Given the description of an element on the screen output the (x, y) to click on. 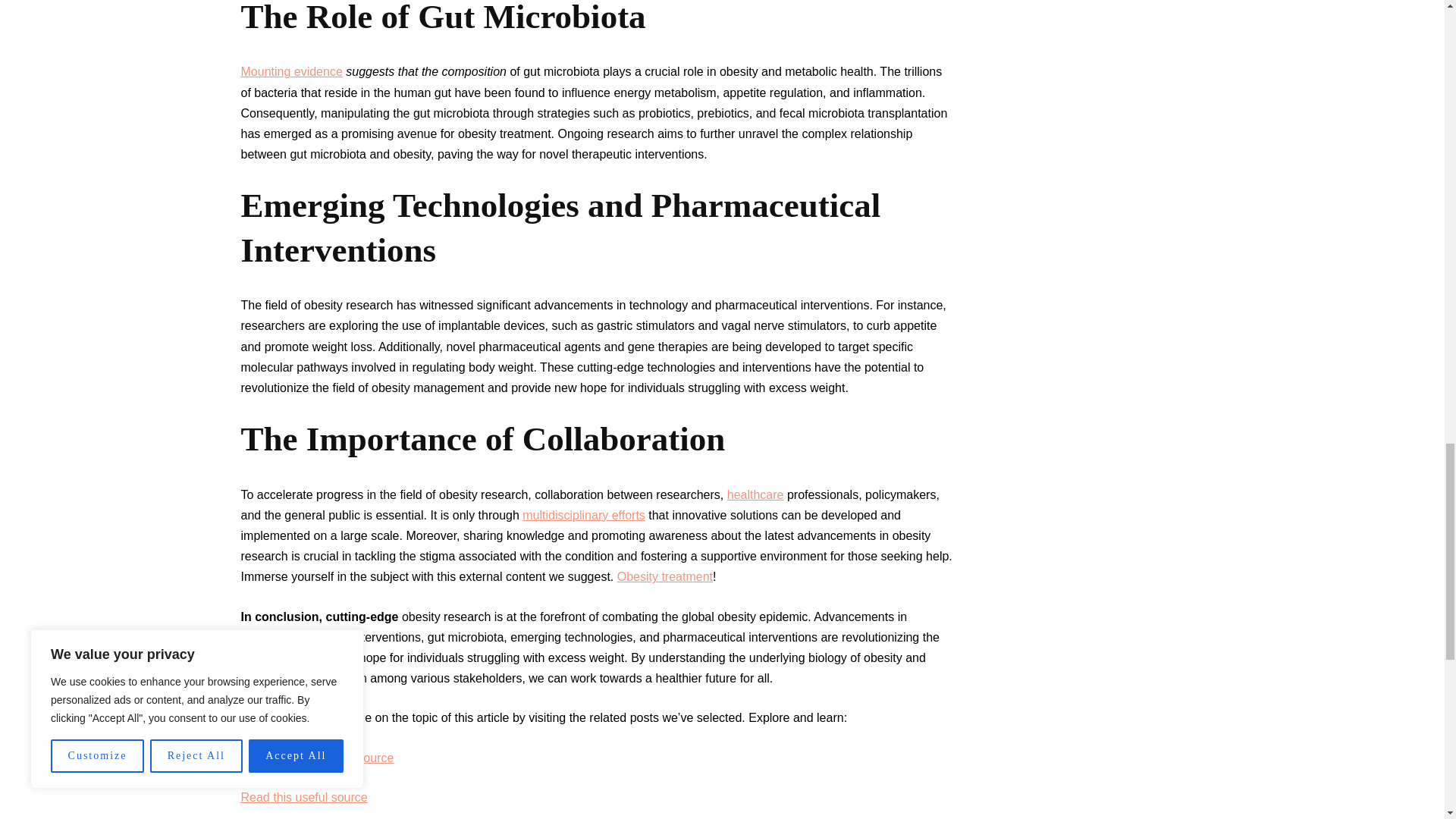
Mounting evidence (291, 71)
multidisciplinary efforts (583, 514)
Read this useful source (304, 797)
healthcare (755, 494)
Explore this helpful resource (317, 757)
Obesity treatment (665, 576)
